Given the description of an element on the screen output the (x, y) to click on. 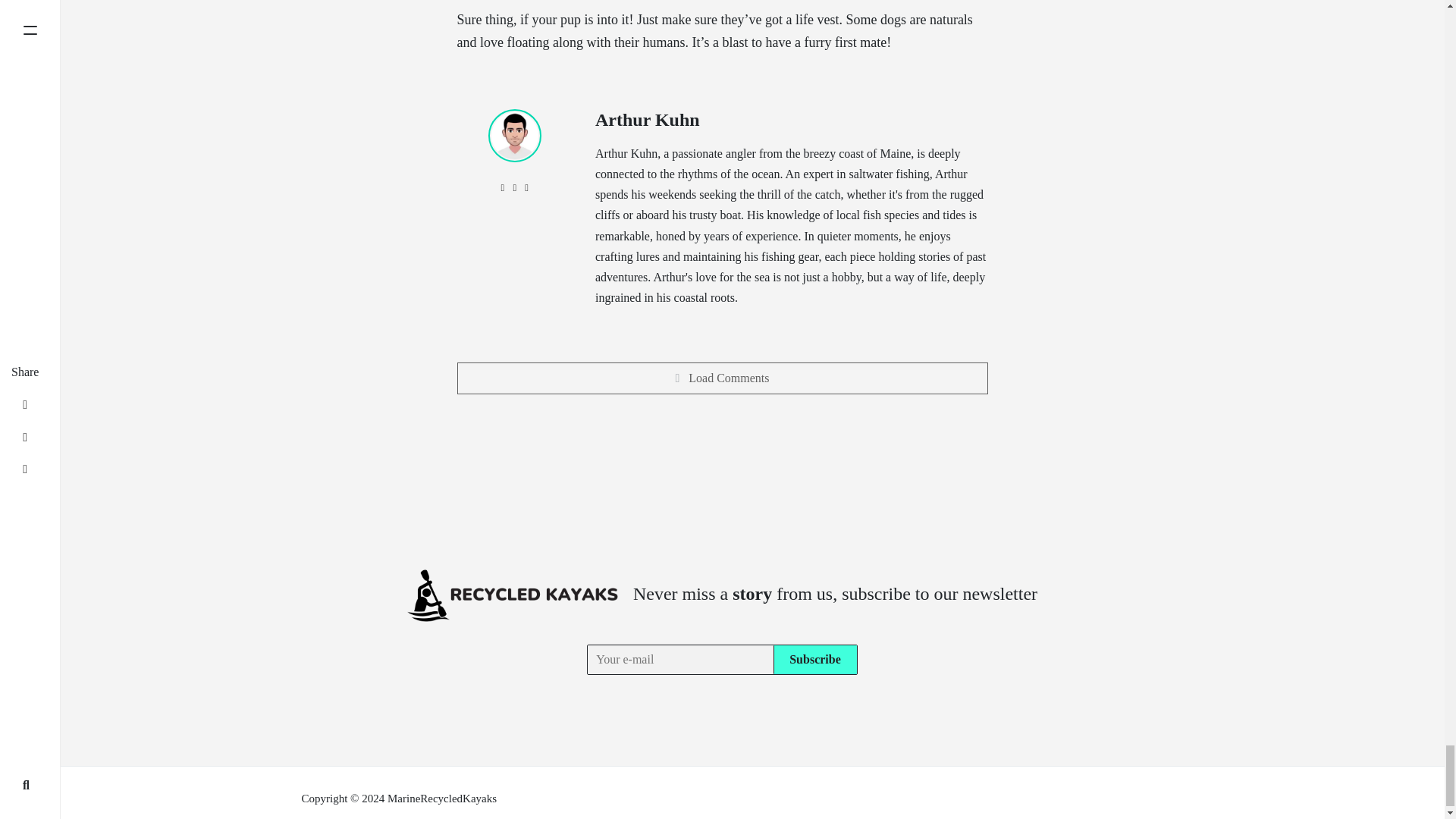
Subscribe (815, 659)
  Load Comments (722, 377)
Subscribe (815, 659)
